Given the description of an element on the screen output the (x, y) to click on. 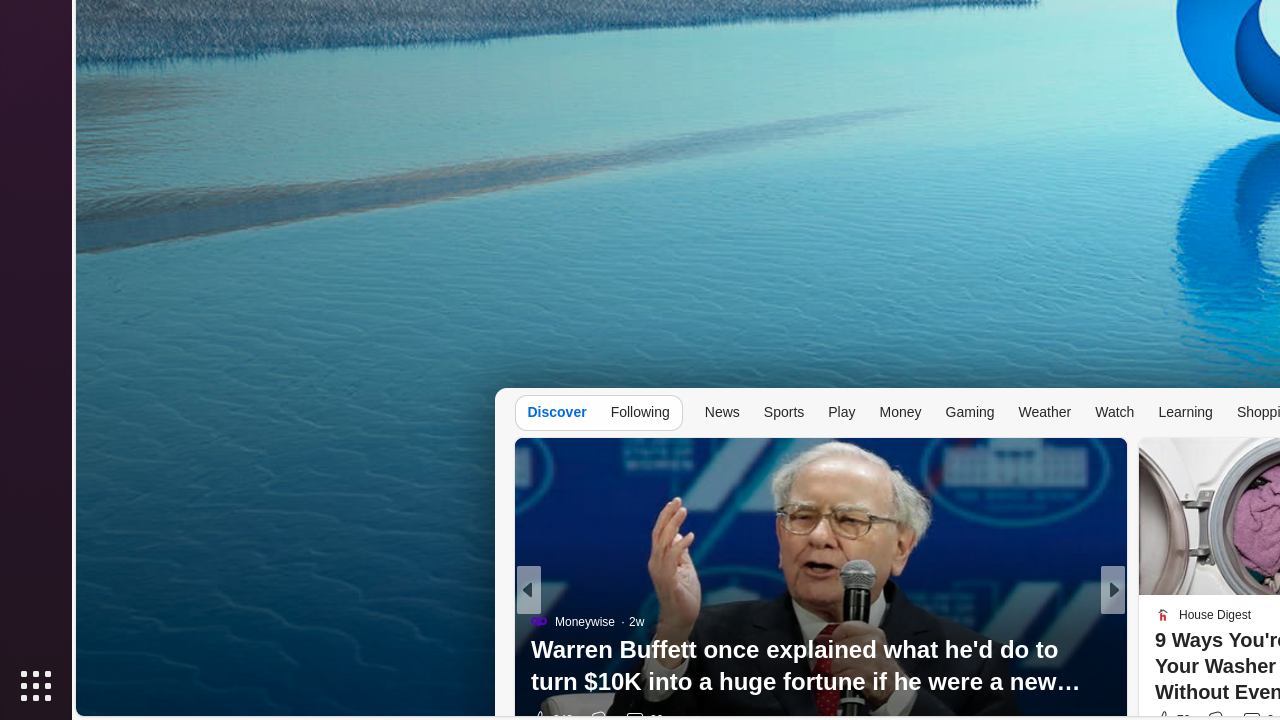
ECS Inc. International Element type: link (1205, 654)
